Given the description of an element on the screen output the (x, y) to click on. 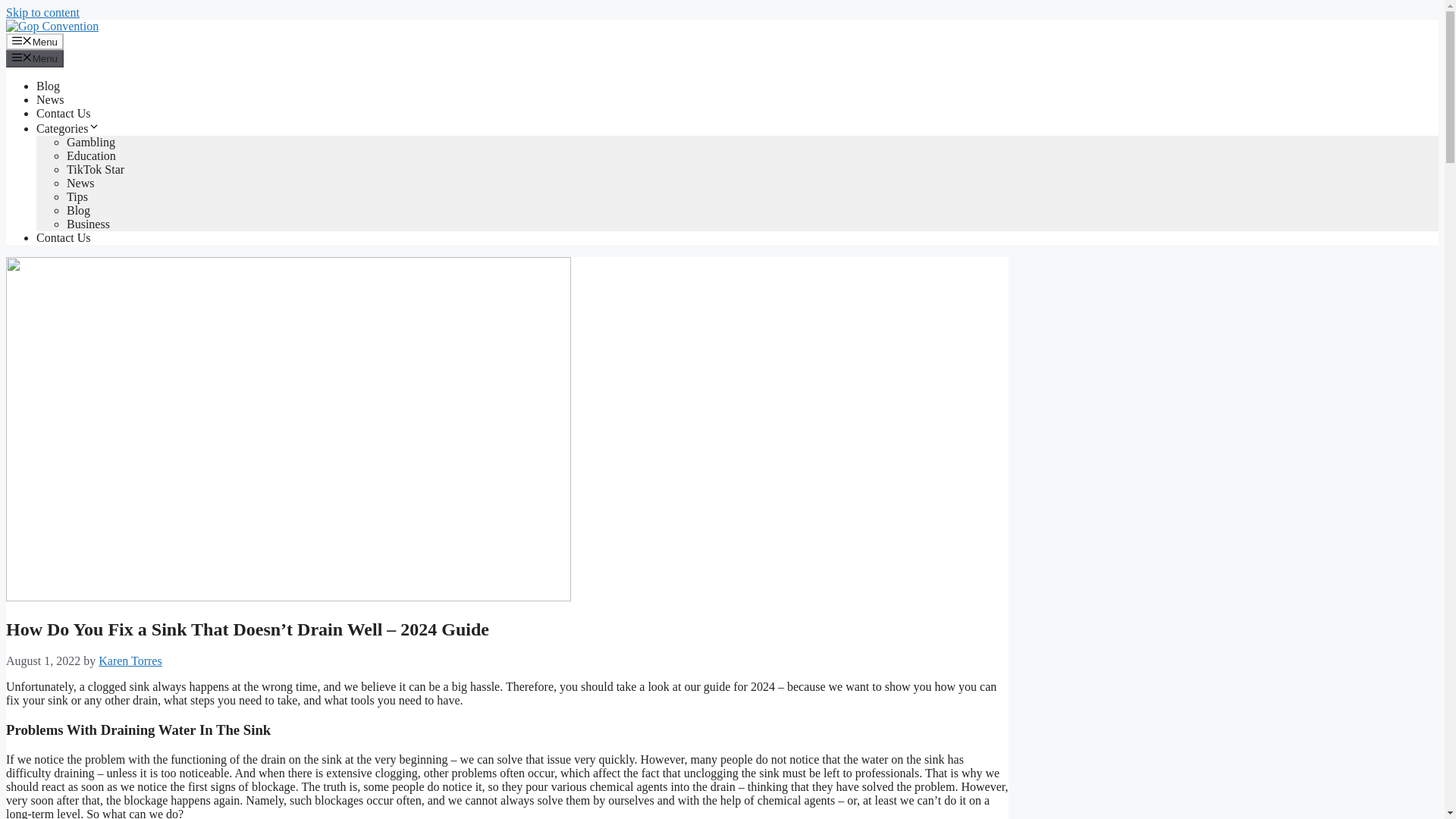
Education (91, 155)
Categories (68, 128)
View all posts by Karen Torres (130, 660)
Karen Torres (130, 660)
Menu (34, 57)
Contact Us (63, 113)
Menu (34, 41)
Blog (47, 85)
Blog (78, 210)
Business (88, 223)
